Given the description of an element on the screen output the (x, y) to click on. 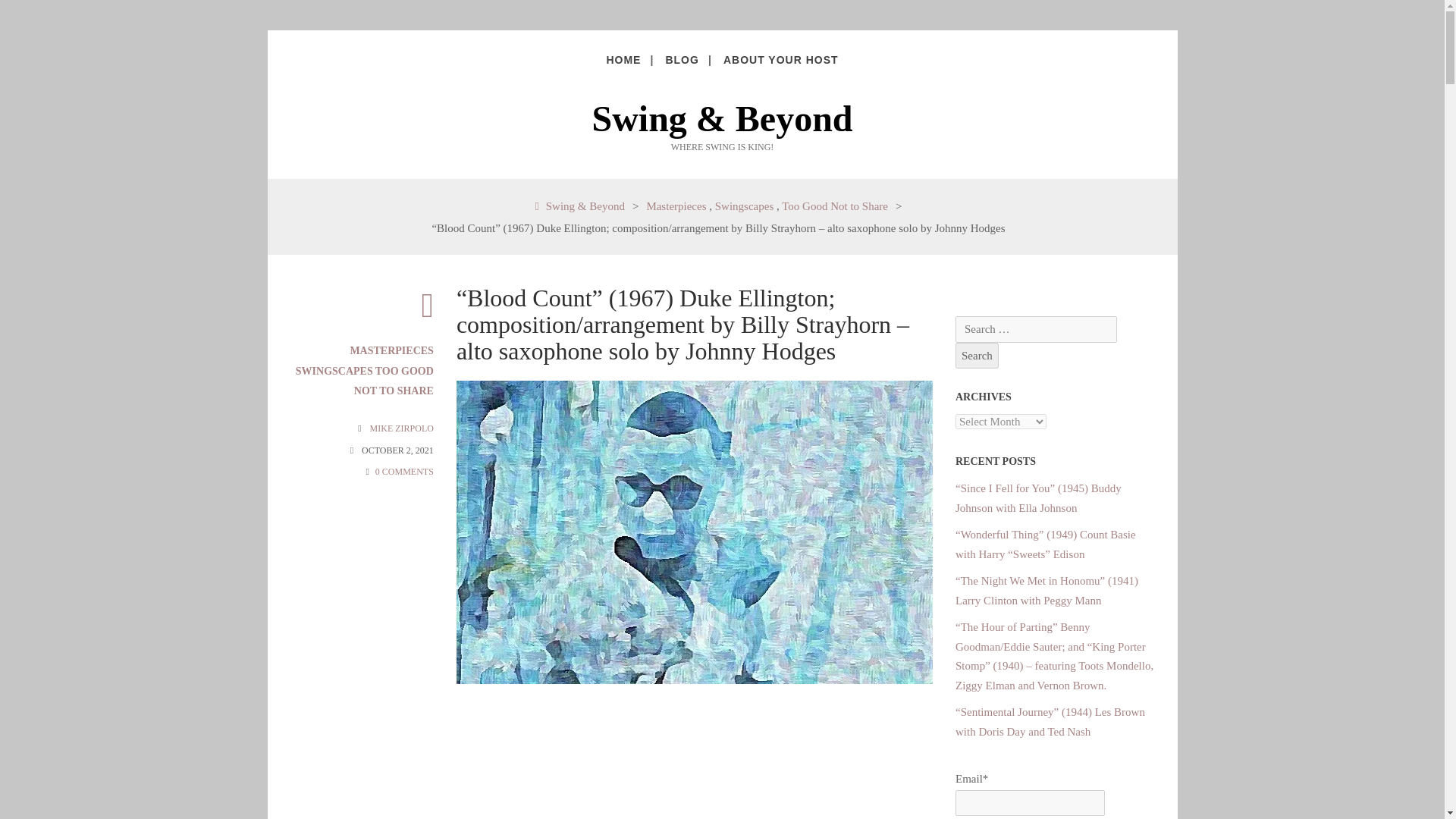
Search (976, 356)
MASTERPIECES (390, 350)
MIKE ZIRPOLO (401, 428)
BLOG (681, 59)
Too Good Not to Share (834, 205)
Search (976, 356)
SWINGSCAPES (333, 370)
Swingscapes (744, 205)
HOME (623, 59)
Masterpieces (676, 205)
